Given the description of an element on the screen output the (x, y) to click on. 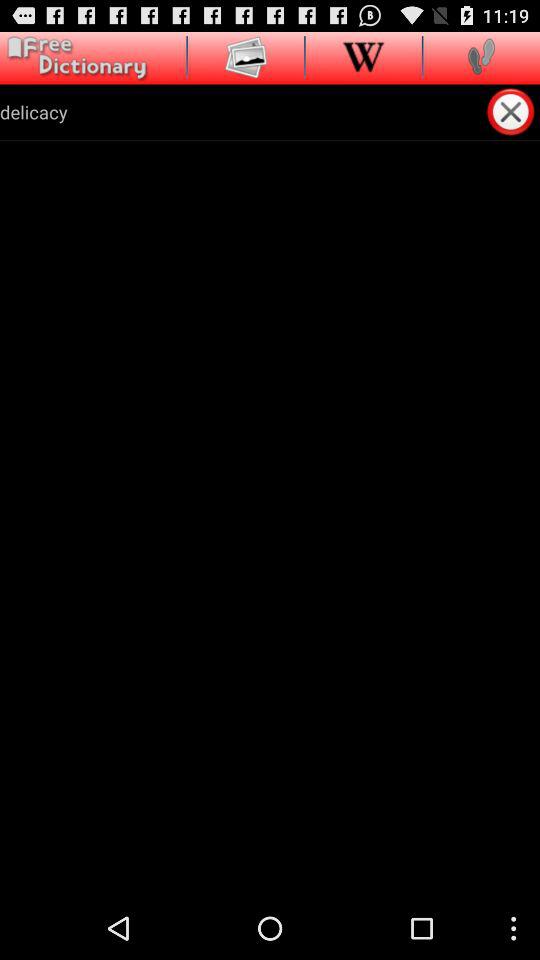
launch icon at the top left corner (74, 58)
